Given the description of an element on the screen output the (x, y) to click on. 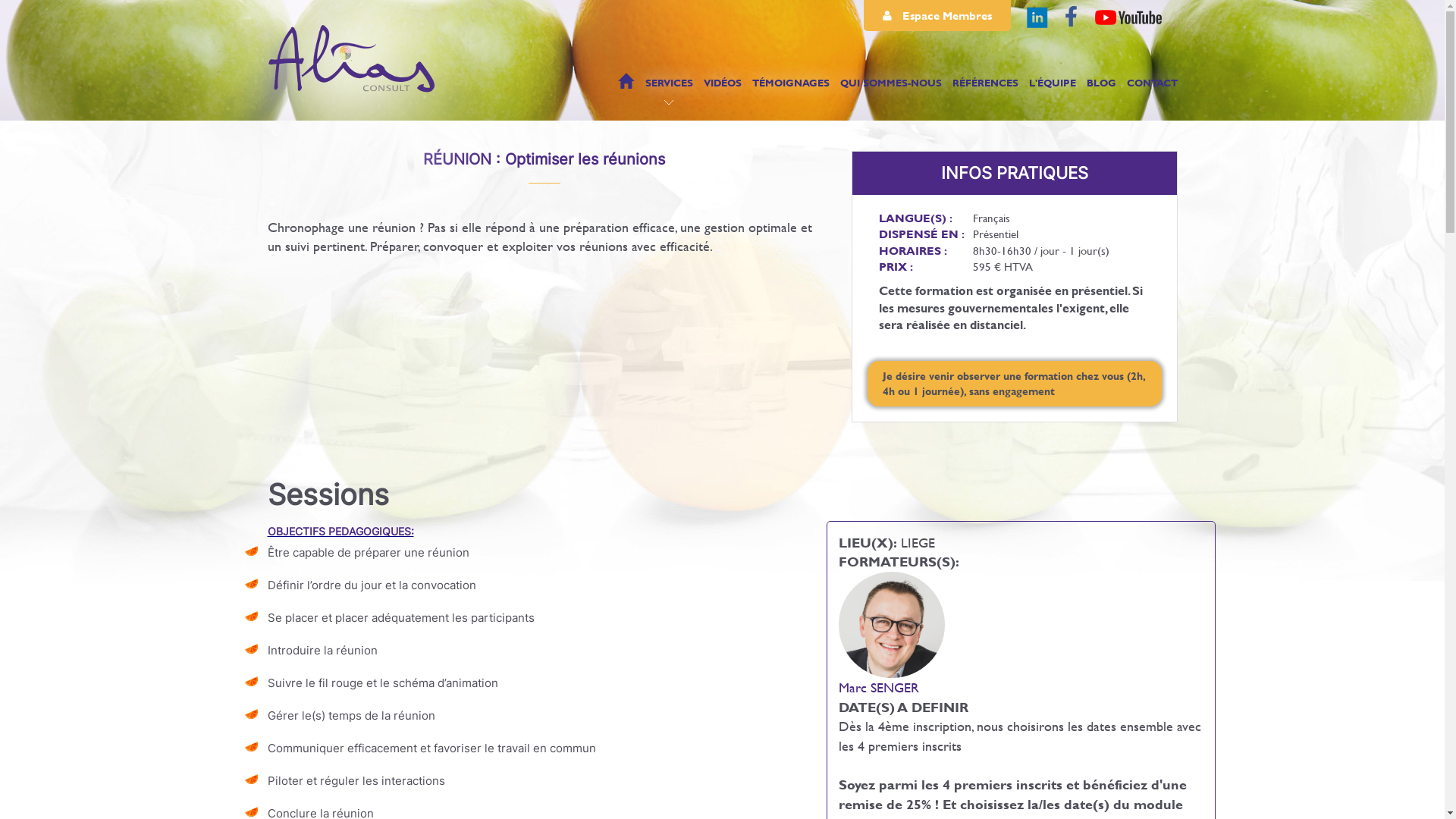
Youtube Element type: text (1127, 17)
SERVICES Element type: text (668, 88)
QUI SOMMES-NOUS Element type: text (890, 88)
CONTACT Element type: text (1151, 88)
Facebook Element type: text (1071, 16)
Espace Membres Element type: text (936, 15)
Marc SENGER Element type: text (878, 687)
BLOG Element type: text (1100, 88)
LinkedIn Element type: text (1036, 17)
